Given the description of an element on the screen output the (x, y) to click on. 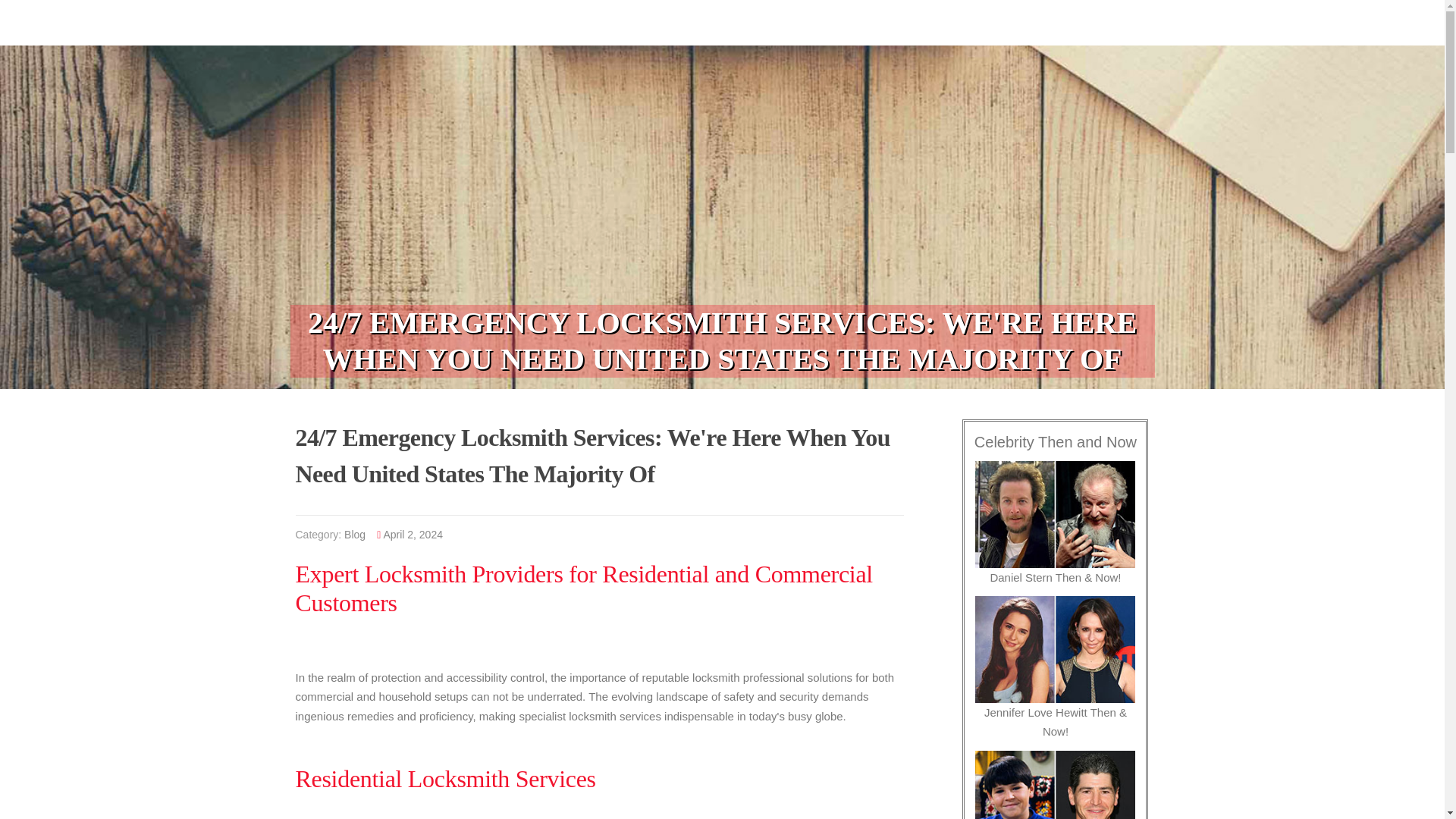
Blog (354, 534)
CARLOCKOUTS72716.COLLECTBLOGS.COM (423, 16)
April 2, 2024 (412, 534)
Skip to content (37, 9)
